Given the description of an element on the screen output the (x, y) to click on. 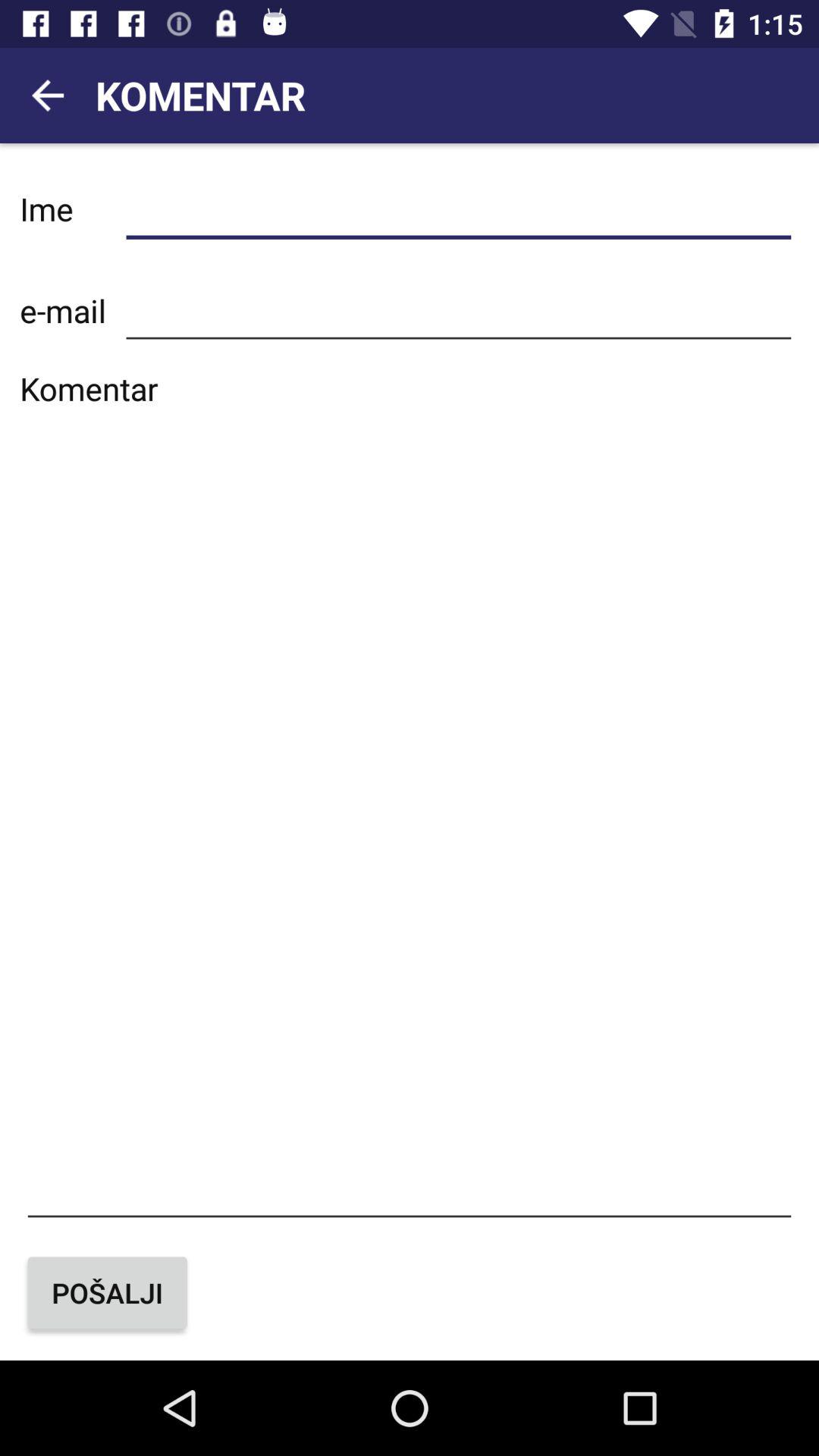
choose app next to the komentar (47, 95)
